Given the description of an element on the screen output the (x, y) to click on. 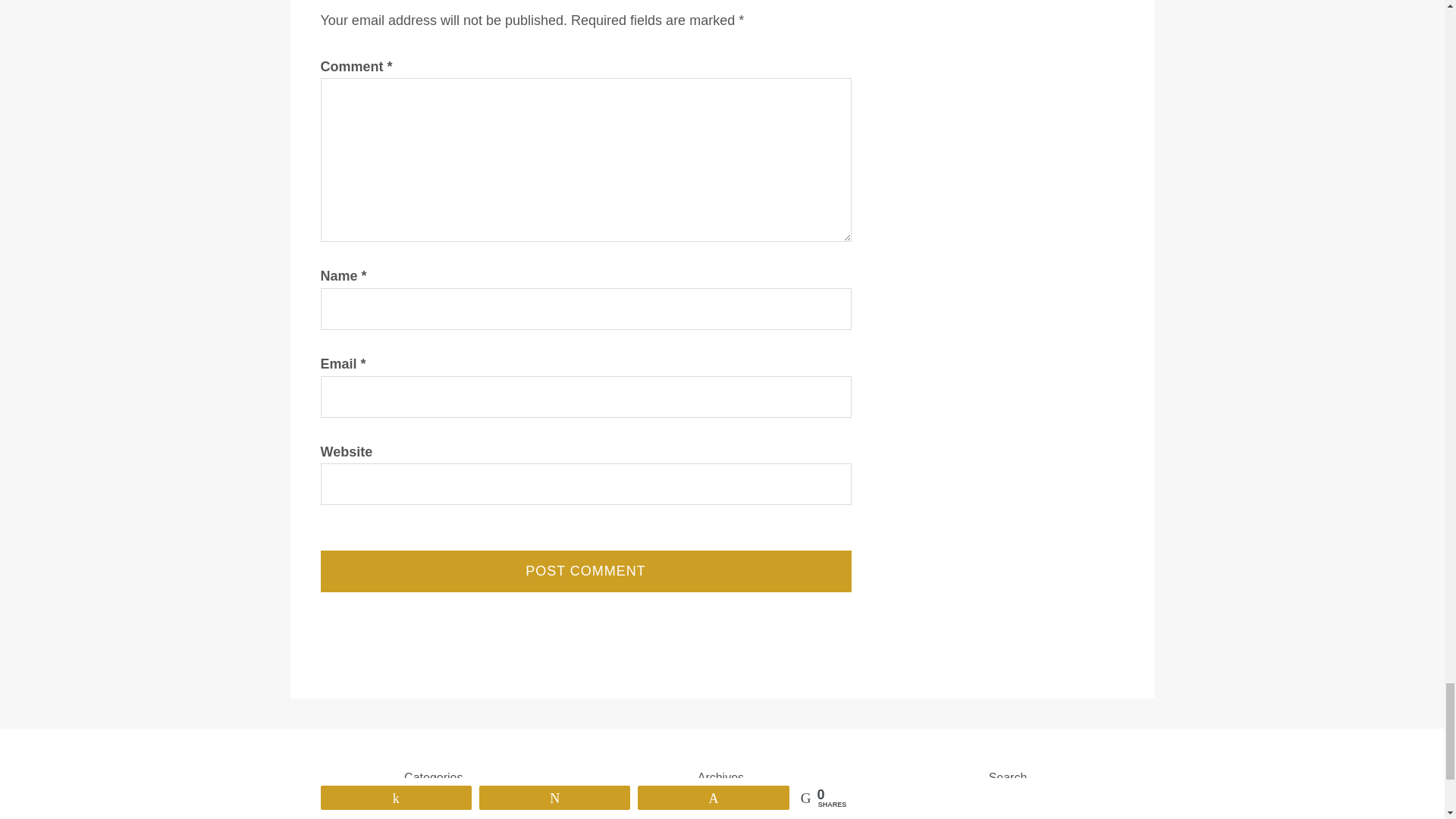
Post Comment (585, 571)
